Given the description of an element on the screen output the (x, y) to click on. 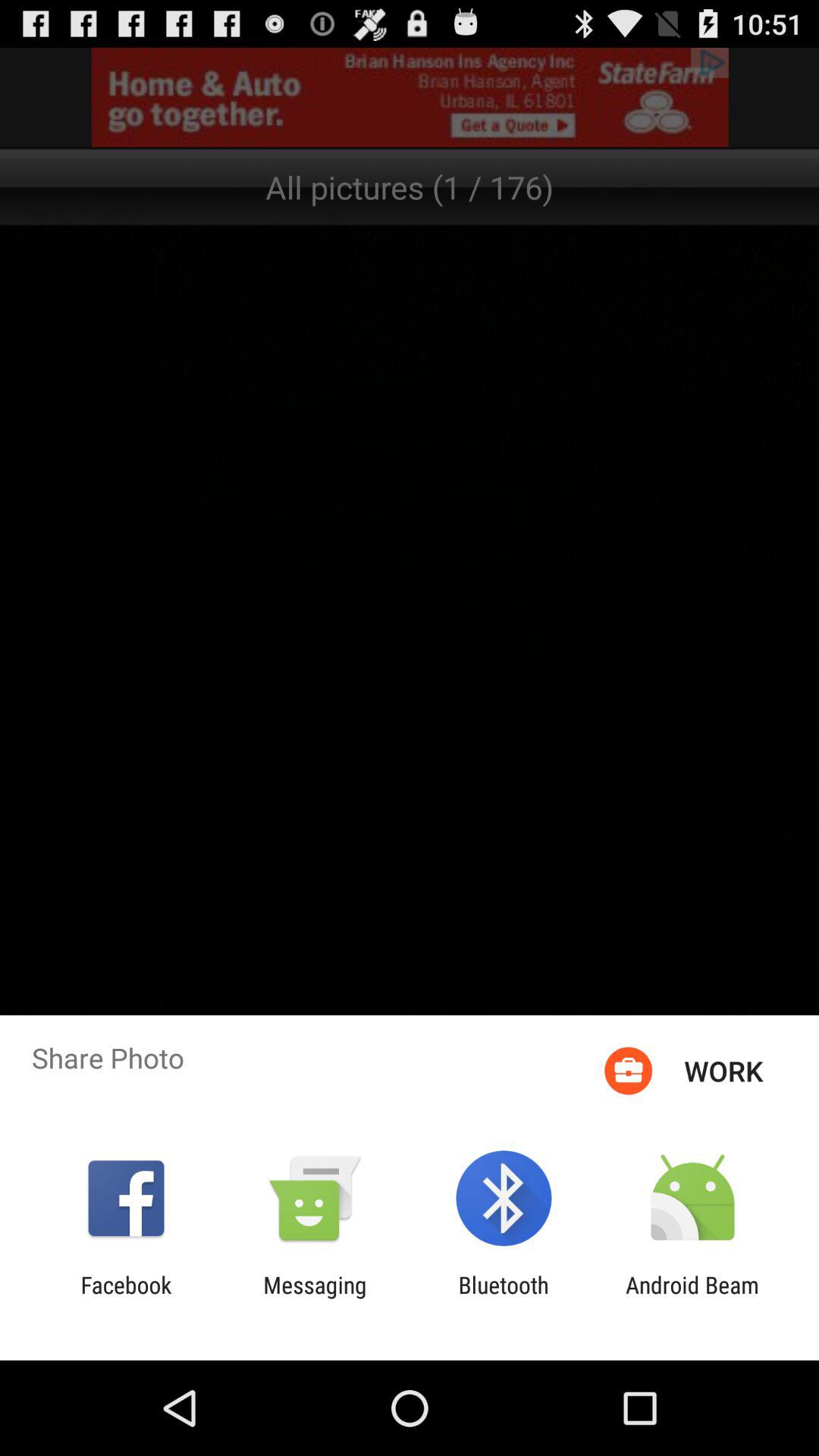
open the item to the left of the android beam item (503, 1298)
